Given the description of an element on the screen output the (x, y) to click on. 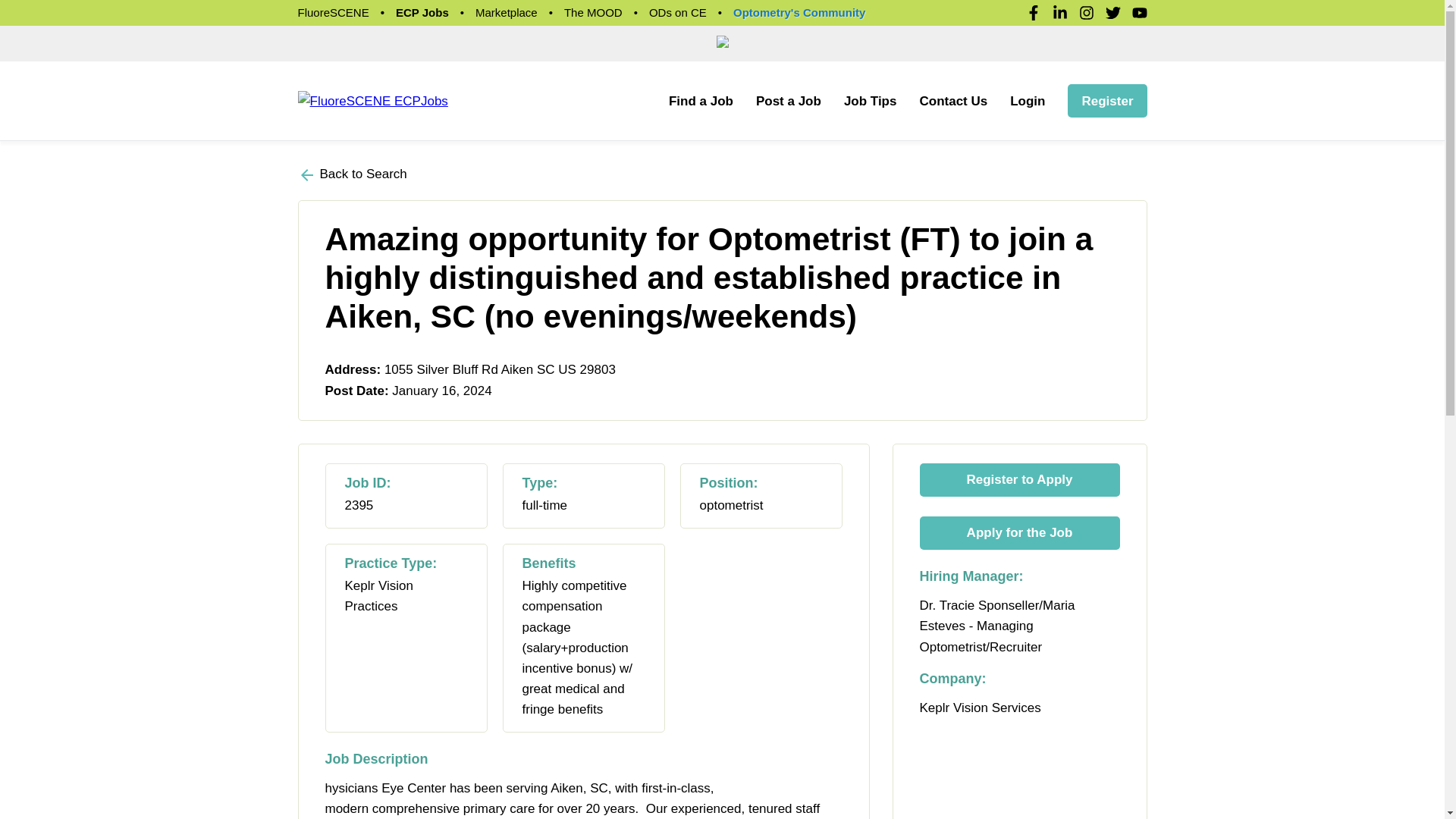
Apply for the Job (1018, 531)
Back to Search (351, 173)
FluoreSCENE (332, 11)
The MOOD (593, 11)
Post a Job (788, 101)
Contact Us (952, 101)
Job Tips (870, 101)
Marketplace (506, 11)
Register (1107, 100)
Login (1027, 101)
